Given the description of an element on the screen output the (x, y) to click on. 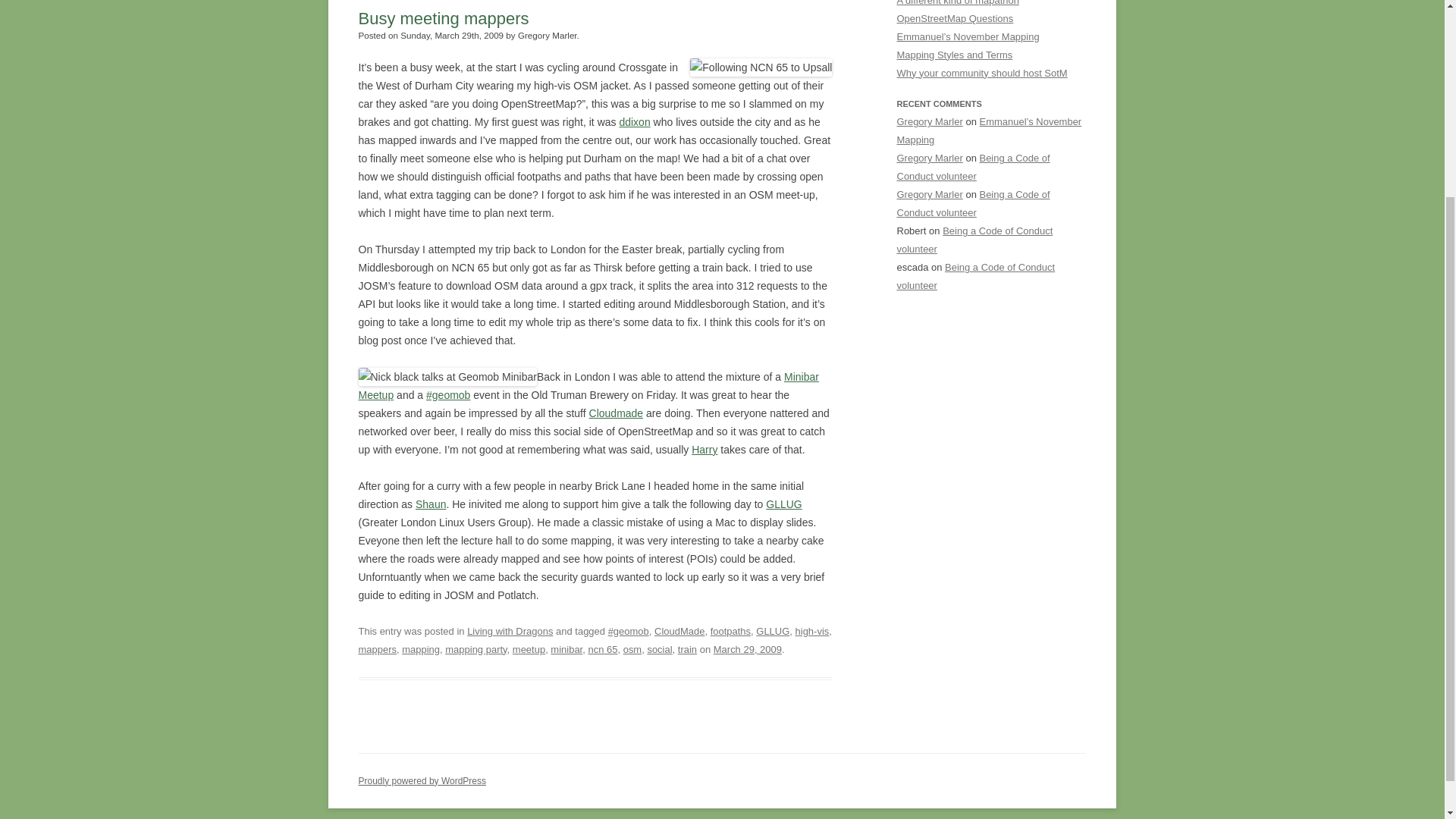
Harry (704, 449)
social (658, 649)
meetup (528, 649)
mapping party (475, 649)
mappers (377, 649)
train (687, 649)
A different kind of mapathon (956, 2)
minibar (566, 649)
Busy meeting mappers (443, 18)
Mapping Styles and Terms (953, 54)
footpaths (730, 631)
ncn 65 (602, 649)
11:36 pm (747, 649)
Living with Dragons (510, 631)
high-vis (811, 631)
